Given the description of an element on the screen output the (x, y) to click on. 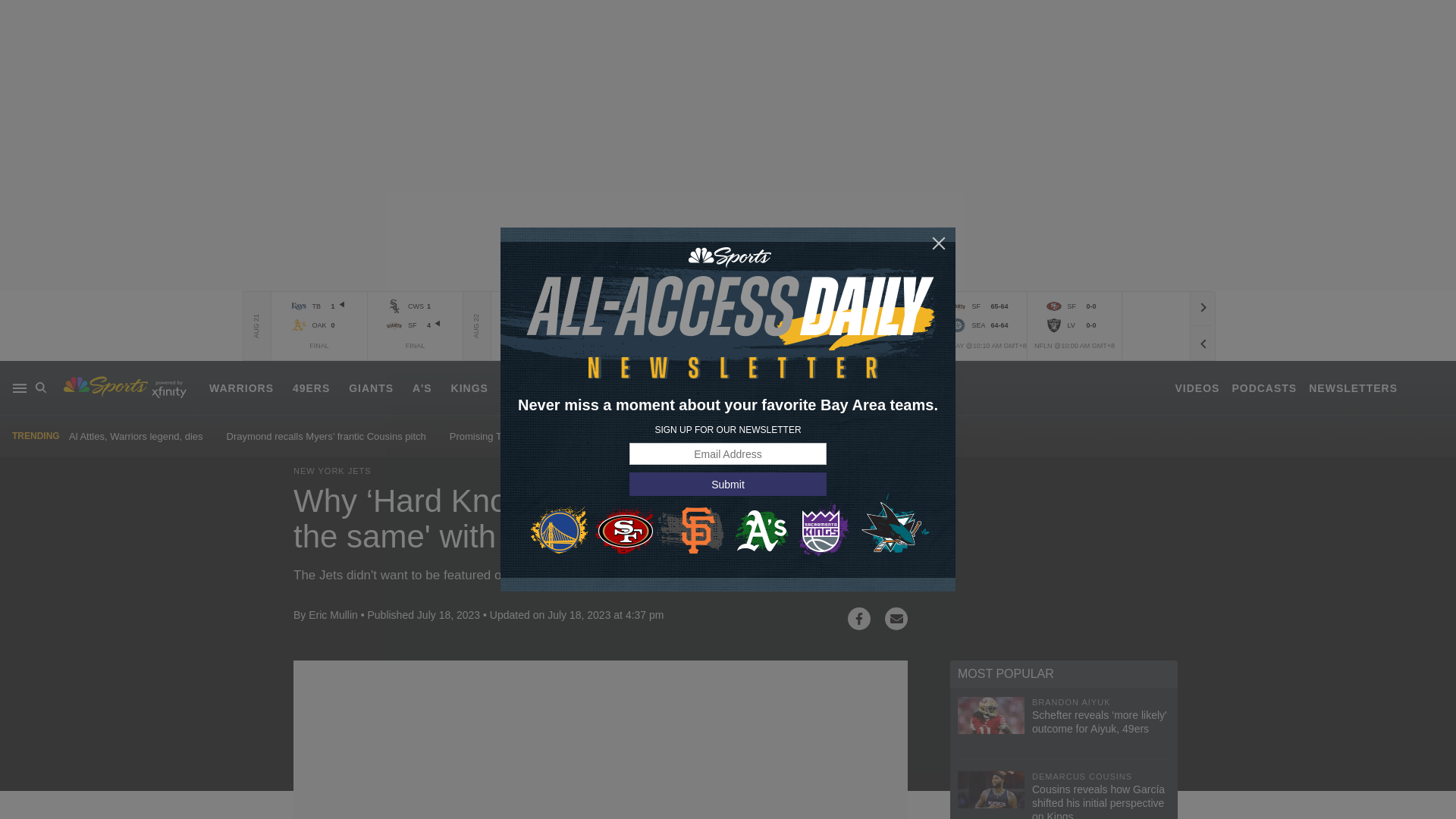
Most likely Aiyuk outcome (670, 436)
Promising Trent Williams update (520, 436)
GIANTS (371, 387)
VIDEOS (1197, 387)
SHARKS (531, 387)
KINGS (469, 387)
NEWSLETTERS (1352, 387)
A'S (422, 387)
PODCASTS (1264, 387)
Al Attles, Warriors legend, dies (135, 436)
